Given the description of an element on the screen output the (x, y) to click on. 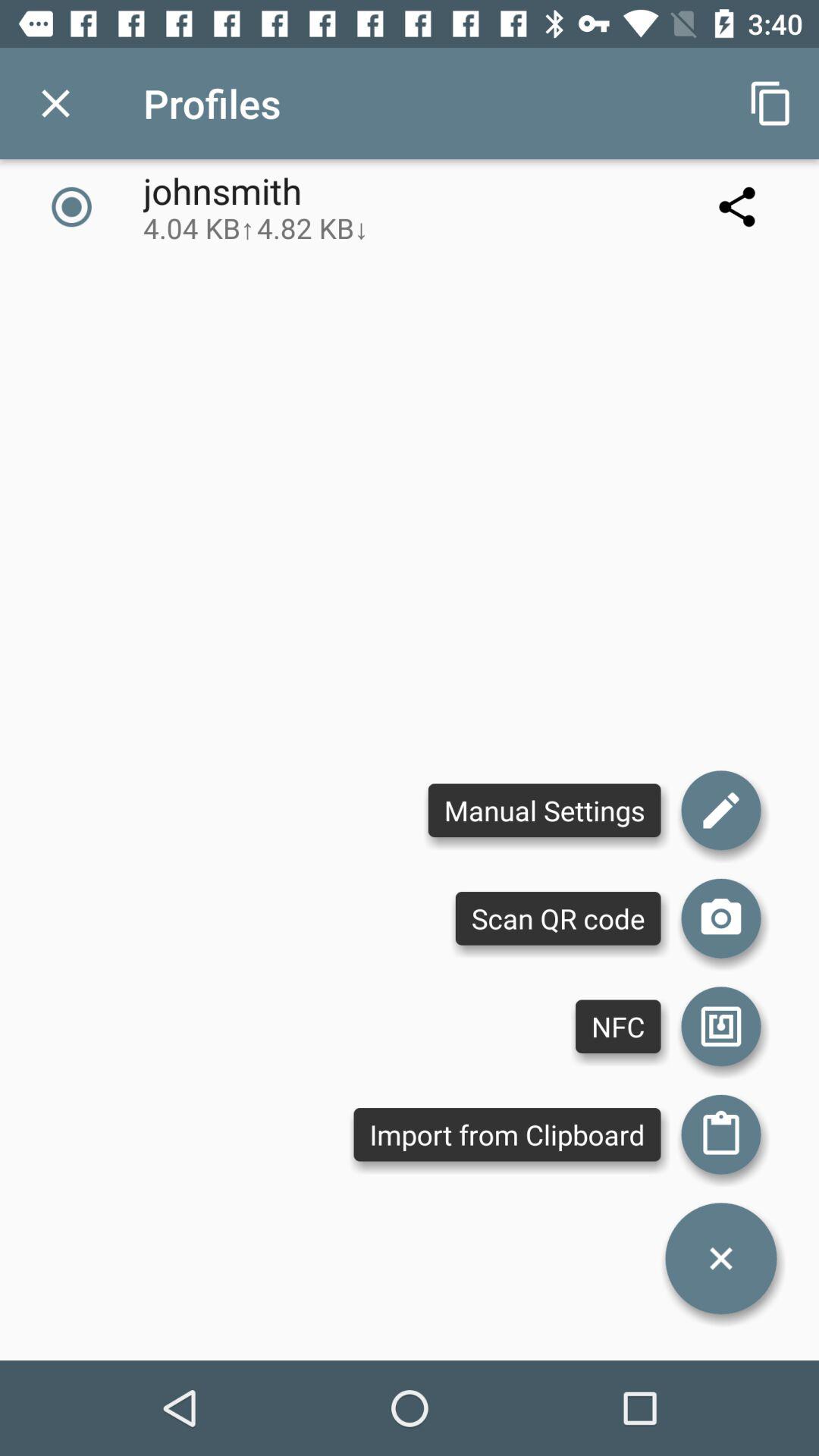
scan (721, 918)
